Given the description of an element on the screen output the (x, y) to click on. 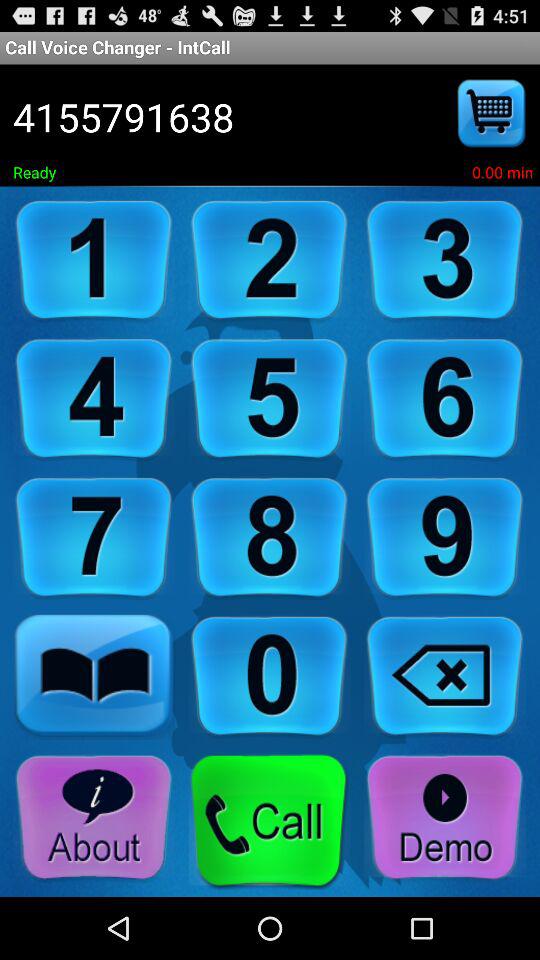
dial number 6 (445, 399)
